Given the description of an element on the screen output the (x, y) to click on. 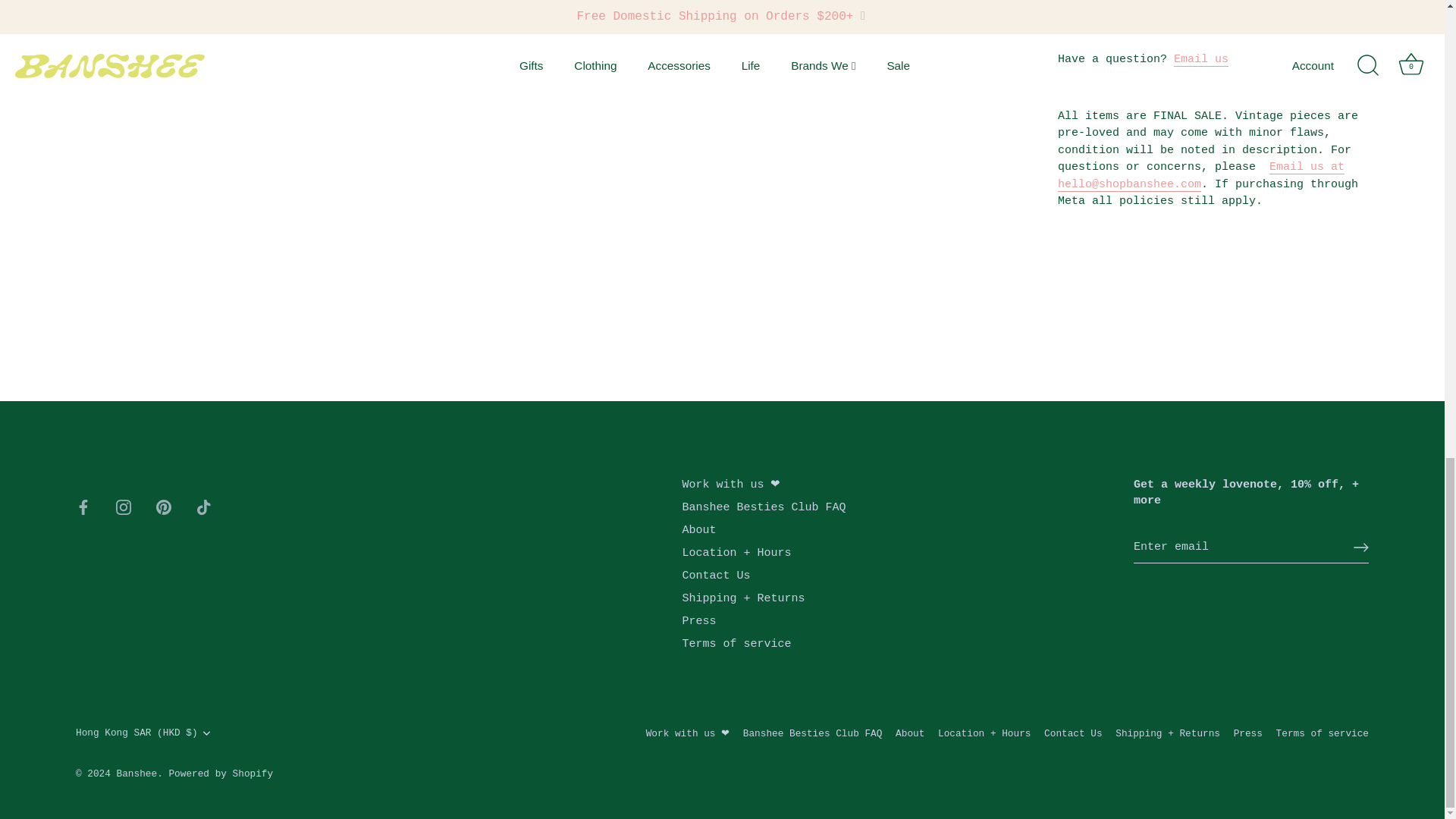
Instagram (123, 507)
RIGHT ARROW LONG (1361, 547)
Pinterest (163, 507)
